Given the description of an element on the screen output the (x, y) to click on. 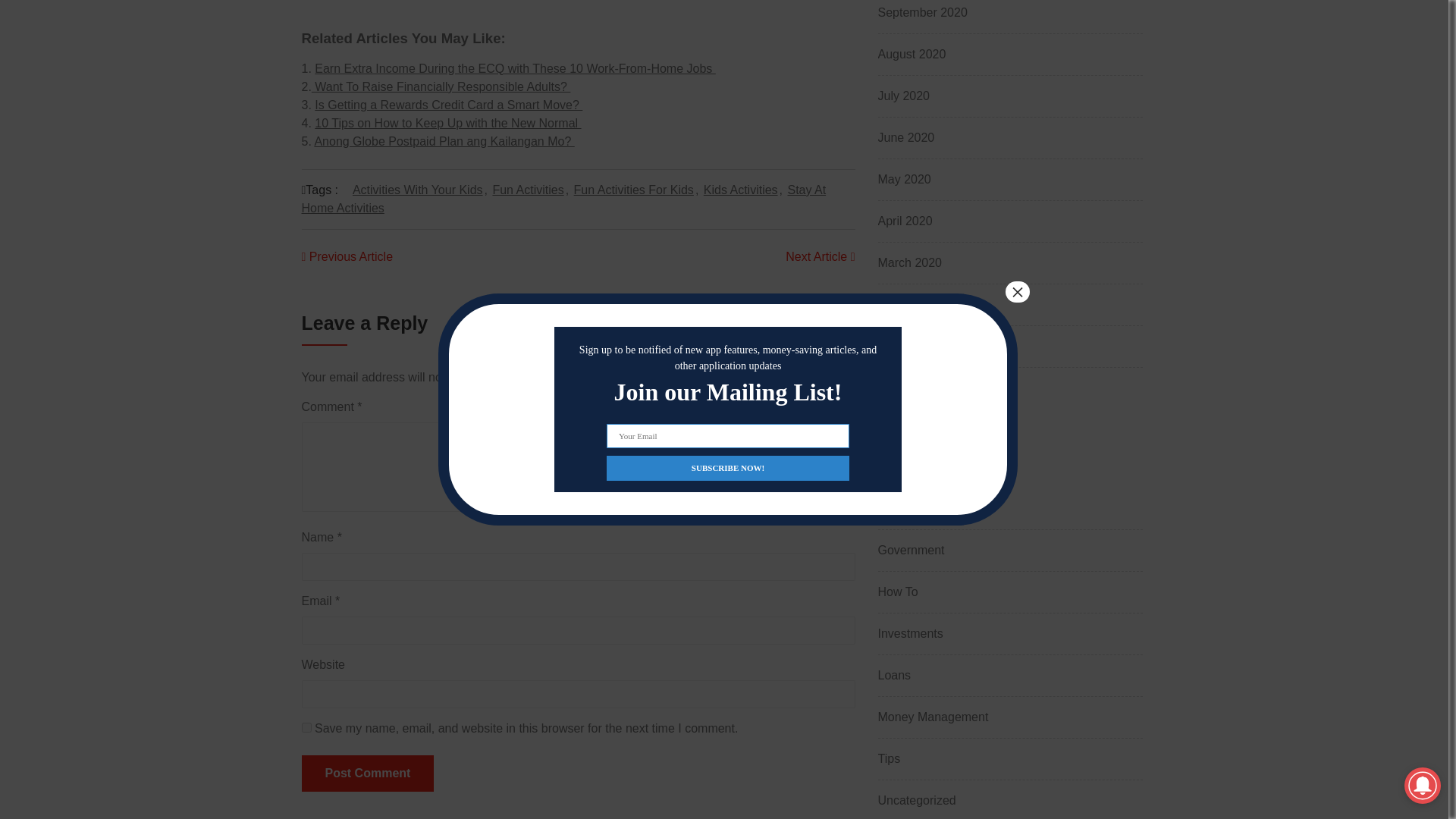
Post Comment (367, 773)
